Given the description of an element on the screen output the (x, y) to click on. 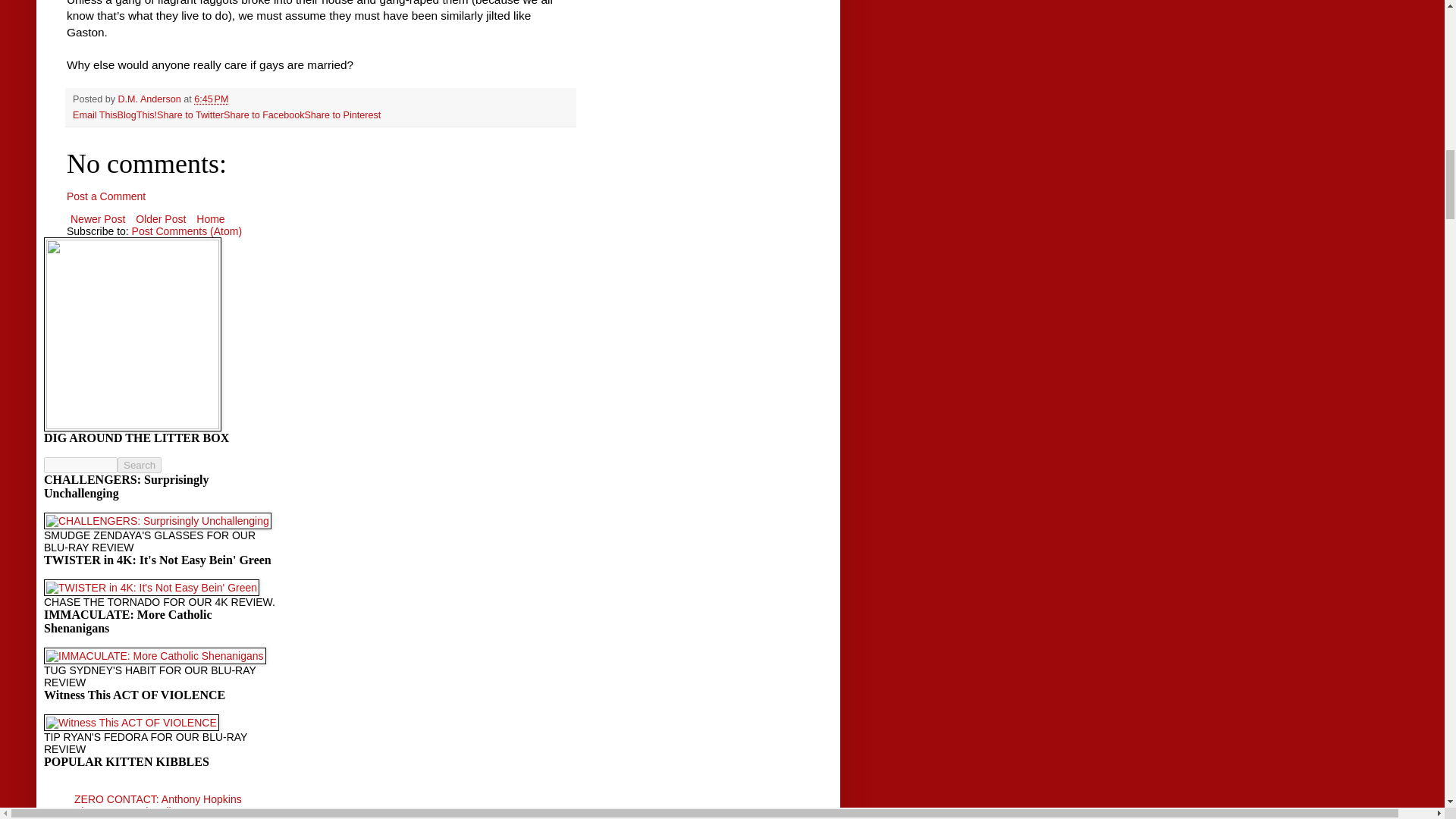
Search (139, 465)
Share to Pinterest (342, 114)
Email This (94, 114)
Post a Comment (105, 196)
ZERO CONTACT: Anthony Hopkins Phones It In...Literally (157, 805)
Newer Post (97, 219)
search (80, 465)
D.M. Anderson (150, 99)
Older Post (160, 219)
Newer Post (97, 219)
Share to Pinterest (342, 114)
search (139, 465)
permanent link (210, 99)
Share to Twitter (190, 114)
